Given the description of an element on the screen output the (x, y) to click on. 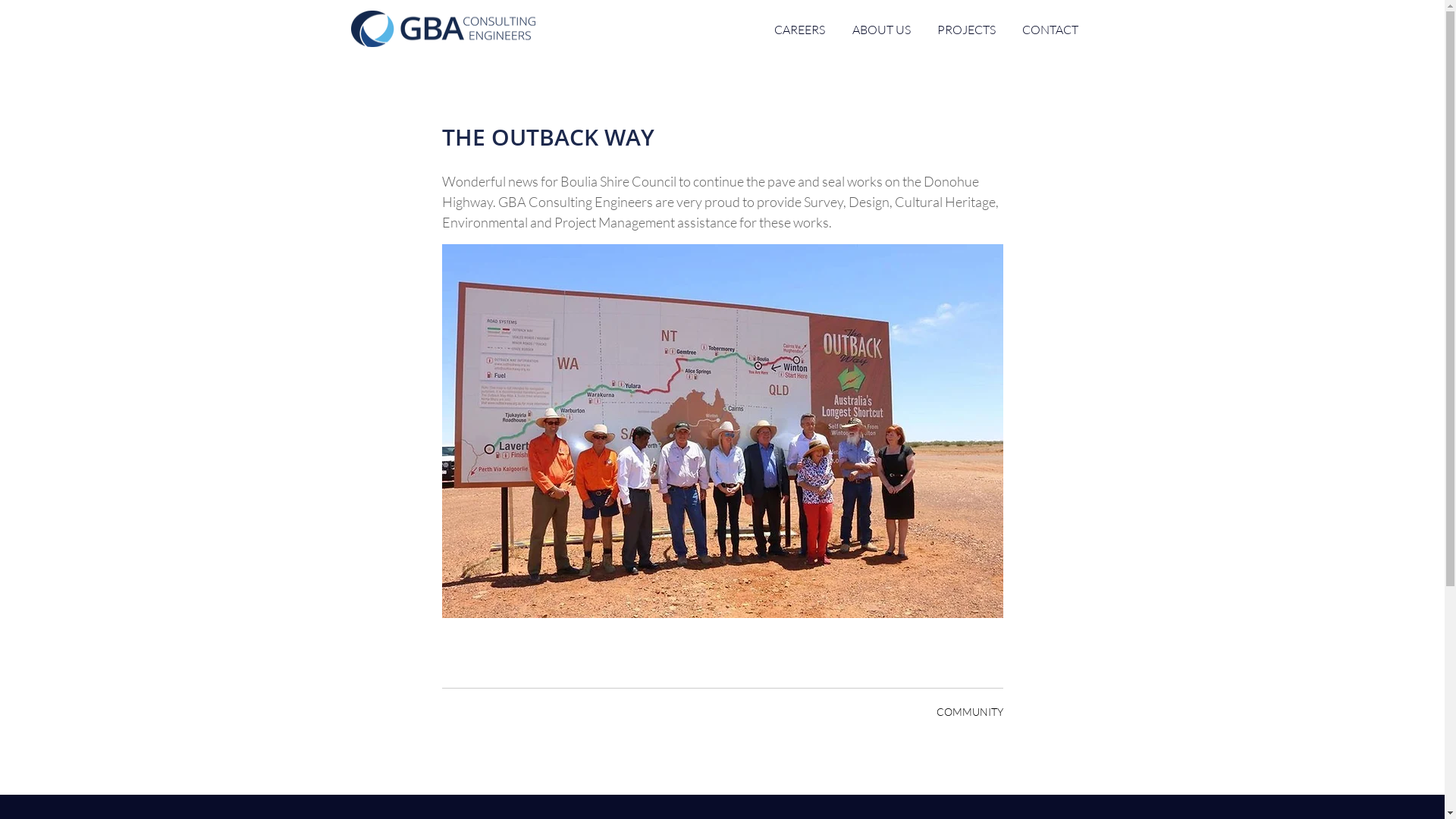
CAREERS Element type: text (798, 29)
CONTACT Element type: text (1049, 29)
PROJECTS Element type: text (965, 29)
ABOUT US Element type: text (881, 29)
COMMUNITY Element type: text (968, 711)
